Given the description of an element on the screen output the (x, y) to click on. 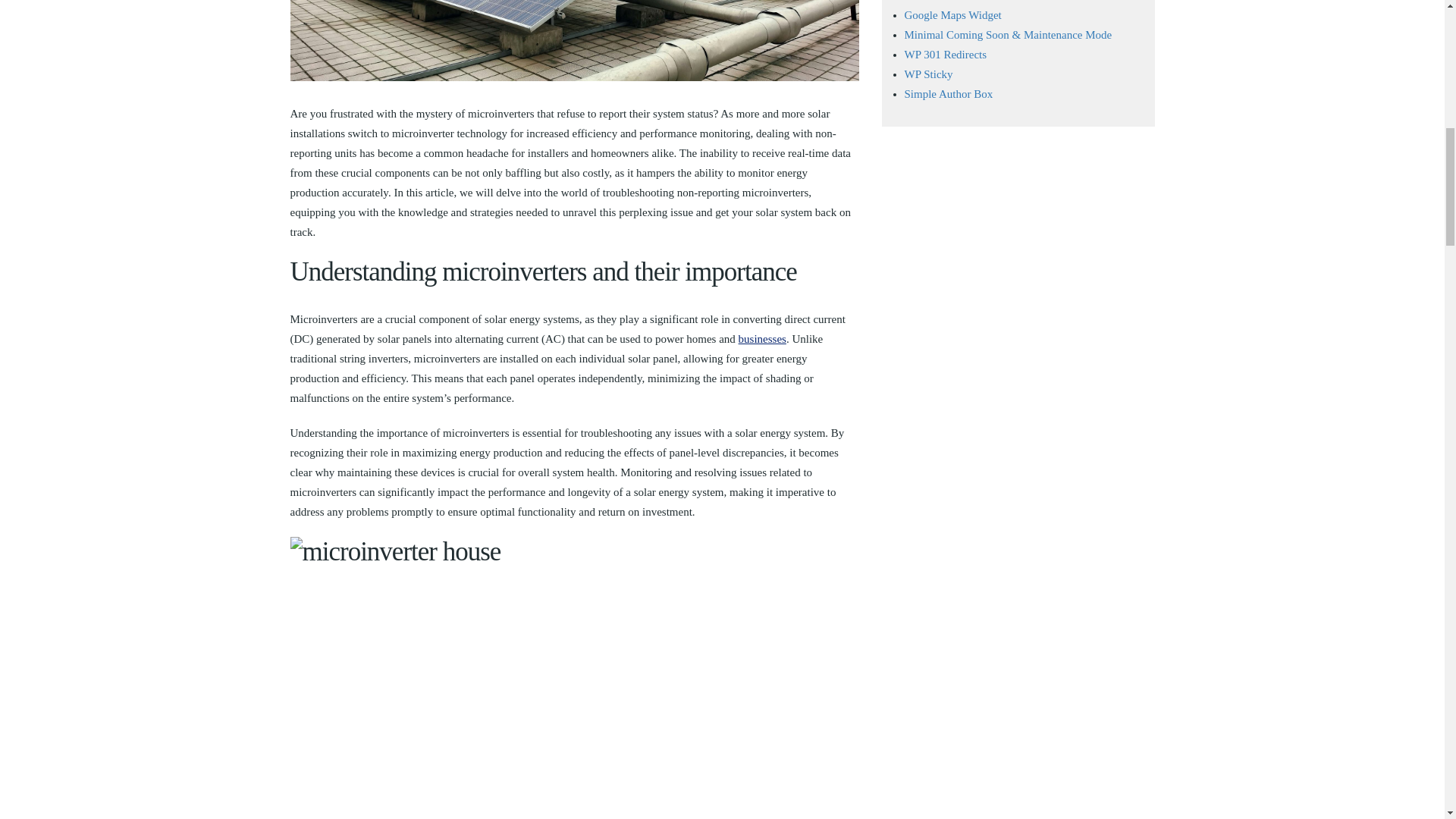
Simple Author Box (948, 93)
WP 301 Redirects (945, 54)
WP Reset (926, 0)
WP Sticky (928, 73)
Google Maps Widget (952, 15)
businesses (762, 338)
